Given the description of an element on the screen output the (x, y) to click on. 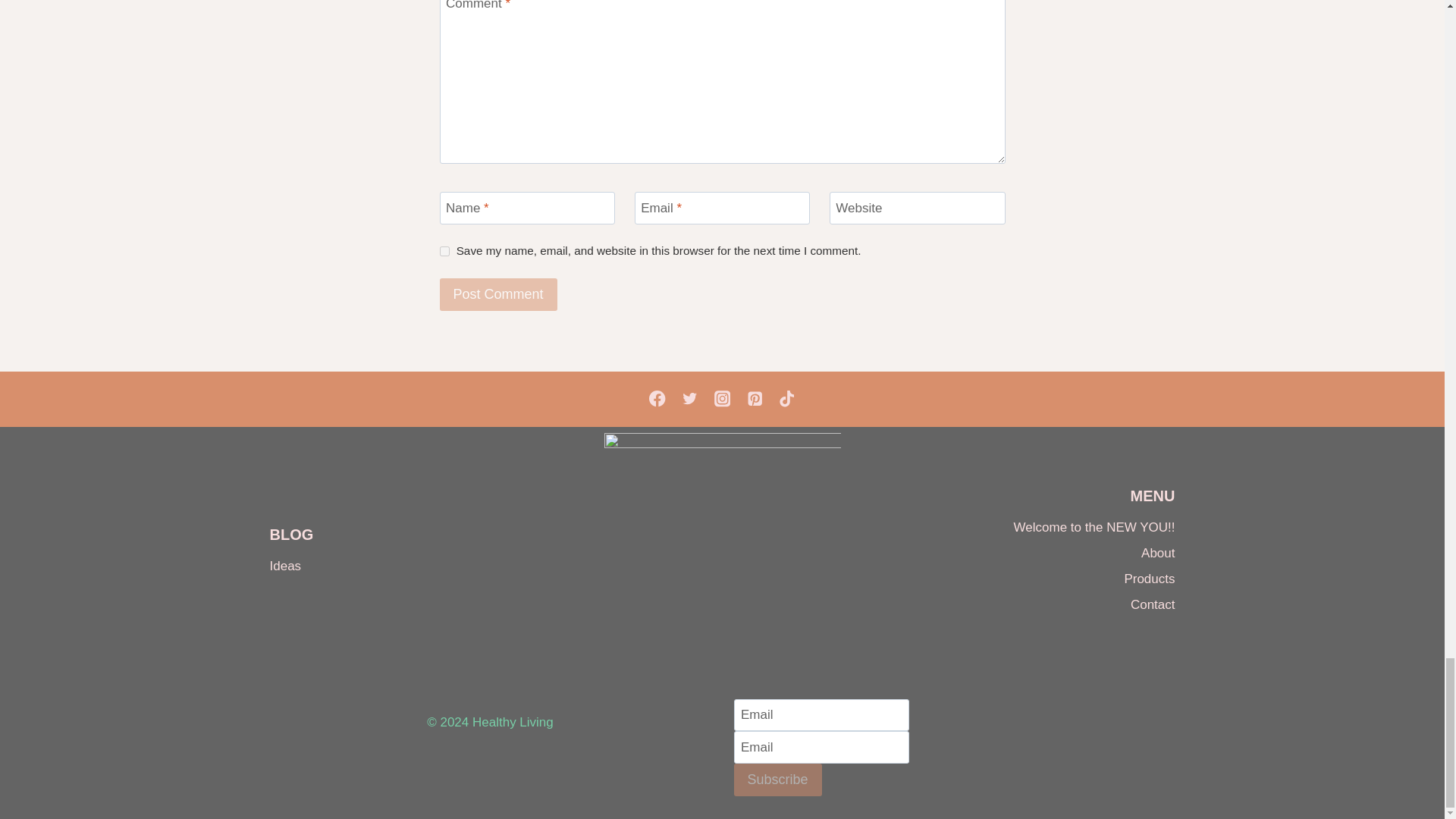
Post Comment (498, 294)
yes (444, 251)
